Given the description of an element on the screen output the (x, y) to click on. 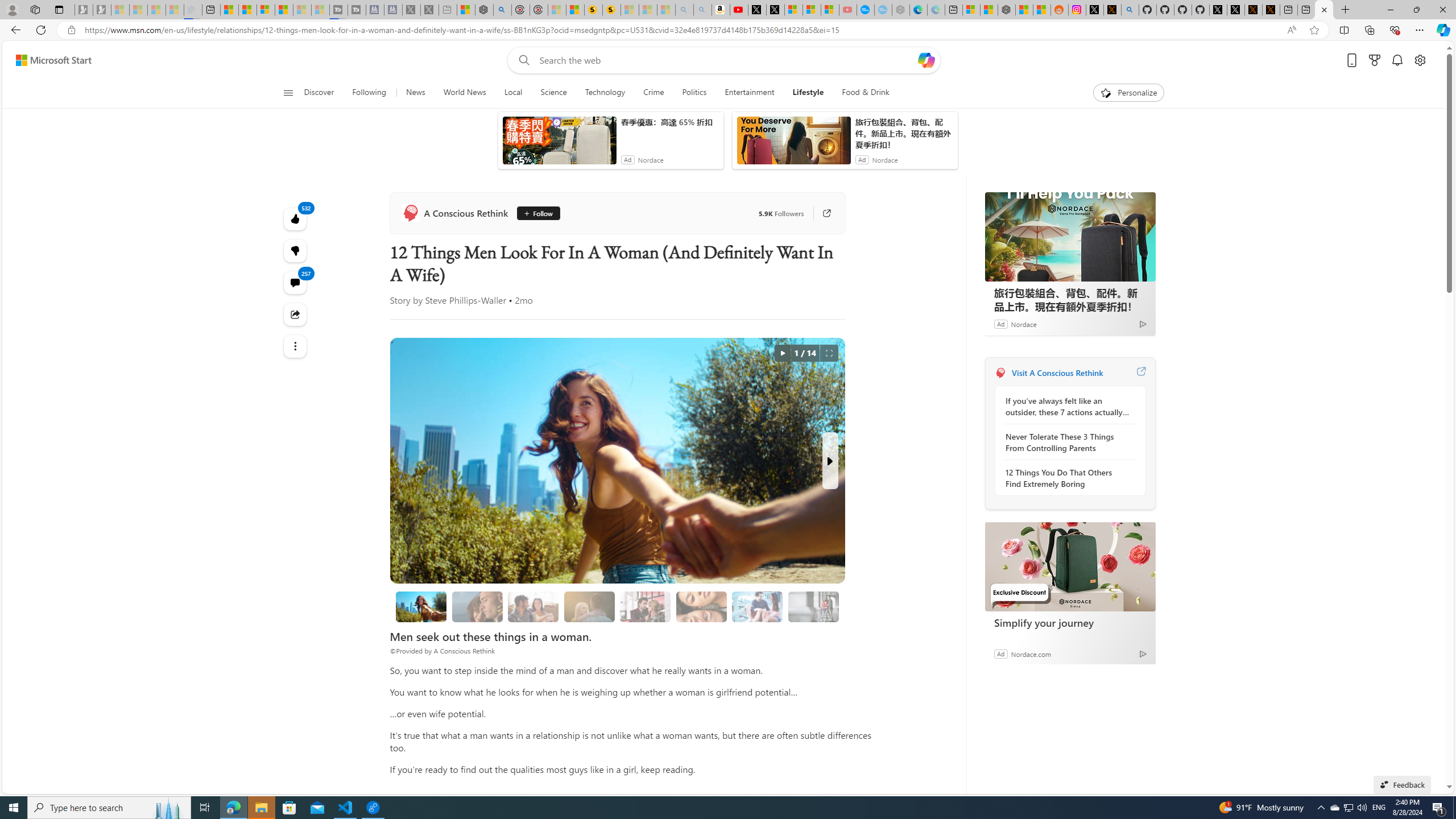
poe - Search (495, 9)
Gaming (537, 151)
View comments 8 Comment (703, 327)
Sports (432, 151)
help.x.com | 524: A timeout occurred (1094, 9)
Feedback (1414, 784)
XDA Developers (647, 288)
Log in to X / X (1076, 9)
Housely (296, 288)
See more (428, 509)
News (398, 151)
